Given the description of an element on the screen output the (x, y) to click on. 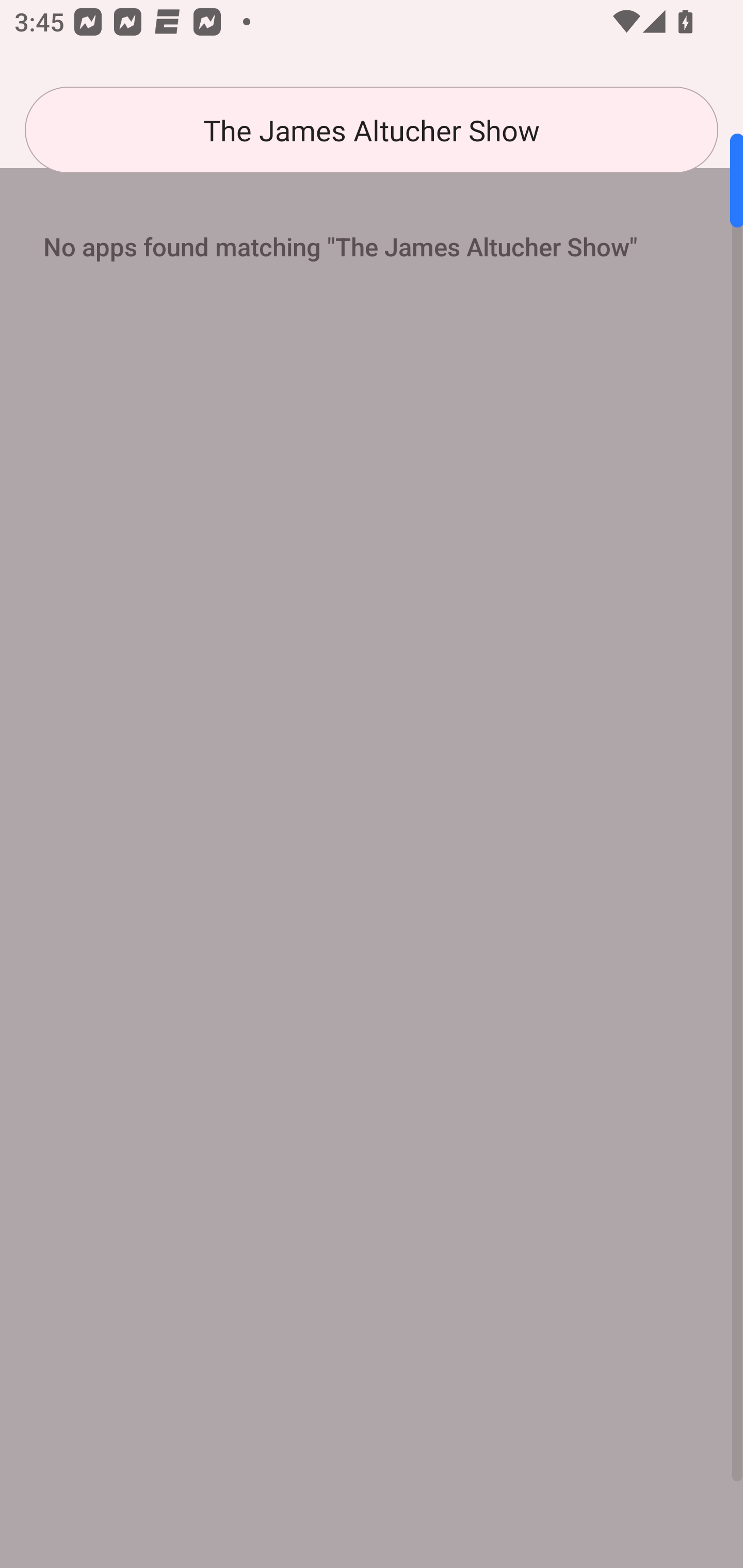
The James Altucher Show (371, 130)
